Given the description of an element on the screen output the (x, y) to click on. 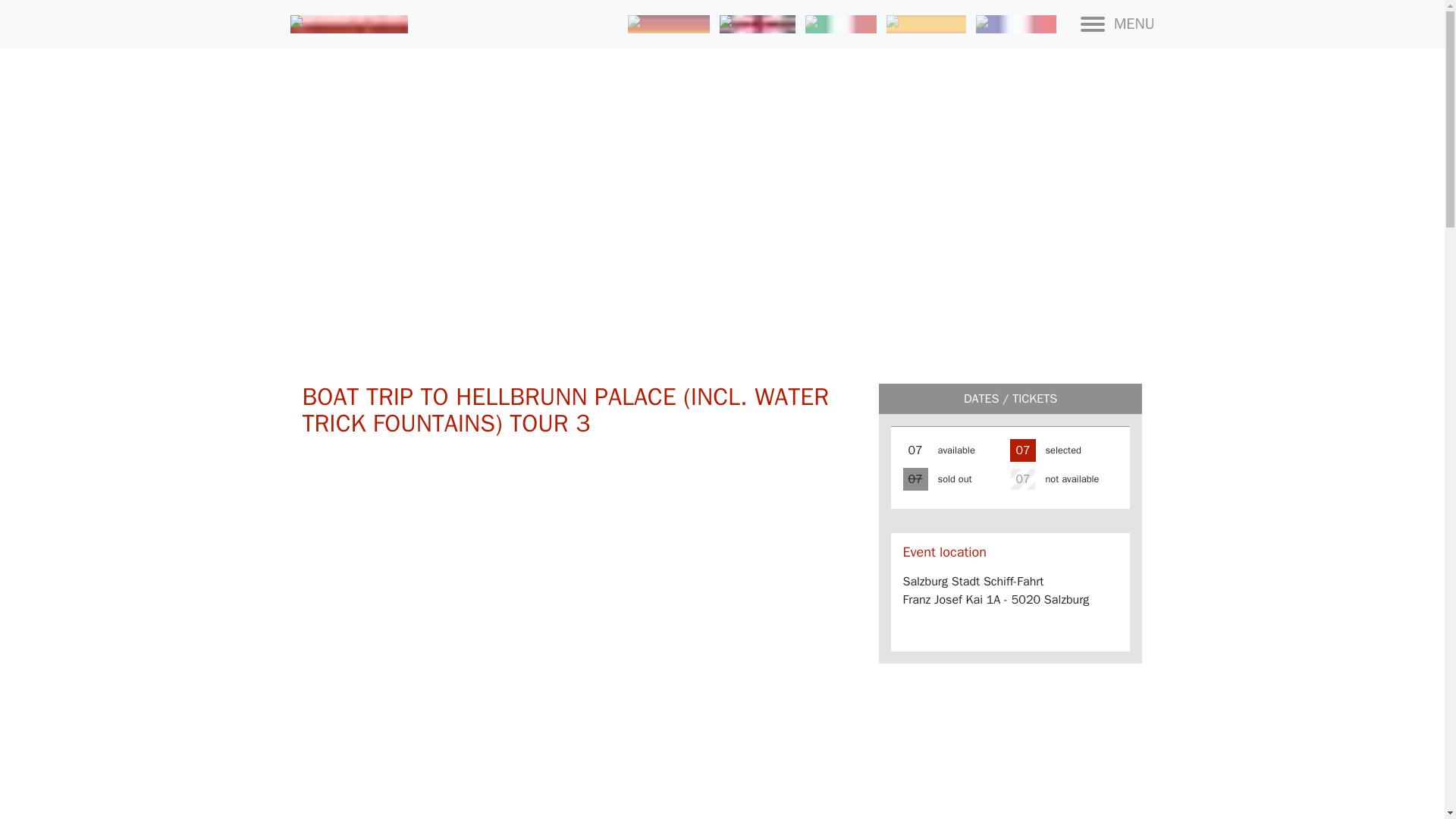
Open navigation (1117, 24)
